Given the description of an element on the screen output the (x, y) to click on. 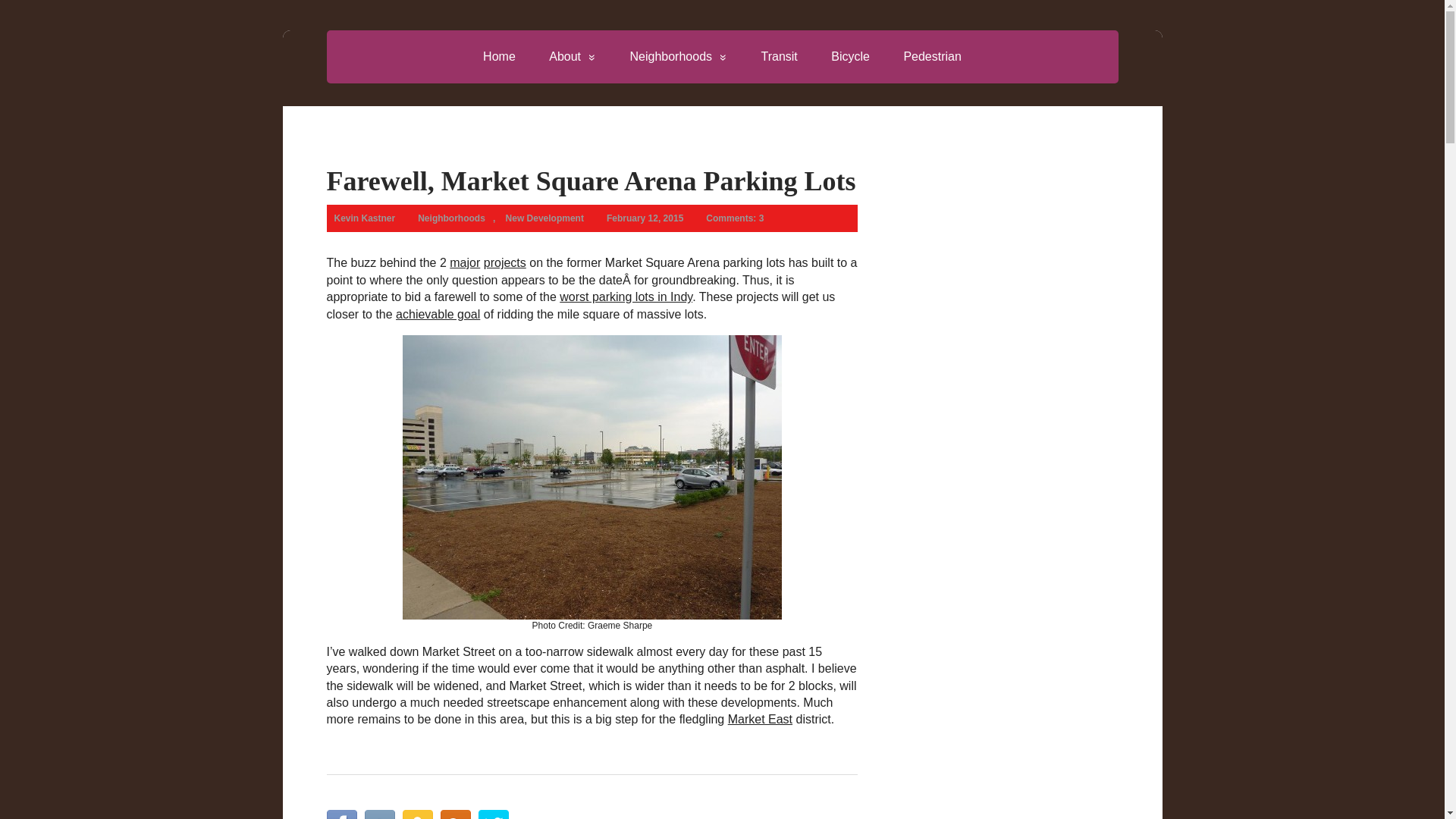
Share in VK (379, 814)
Share in Facebook (341, 814)
New Development (544, 217)
major (464, 262)
Home (499, 56)
About (572, 56)
Share in Twitter (492, 814)
worst parking lots in Indy (626, 296)
Neighborhoods (678, 56)
achievable goal (438, 314)
